Given the description of an element on the screen output the (x, y) to click on. 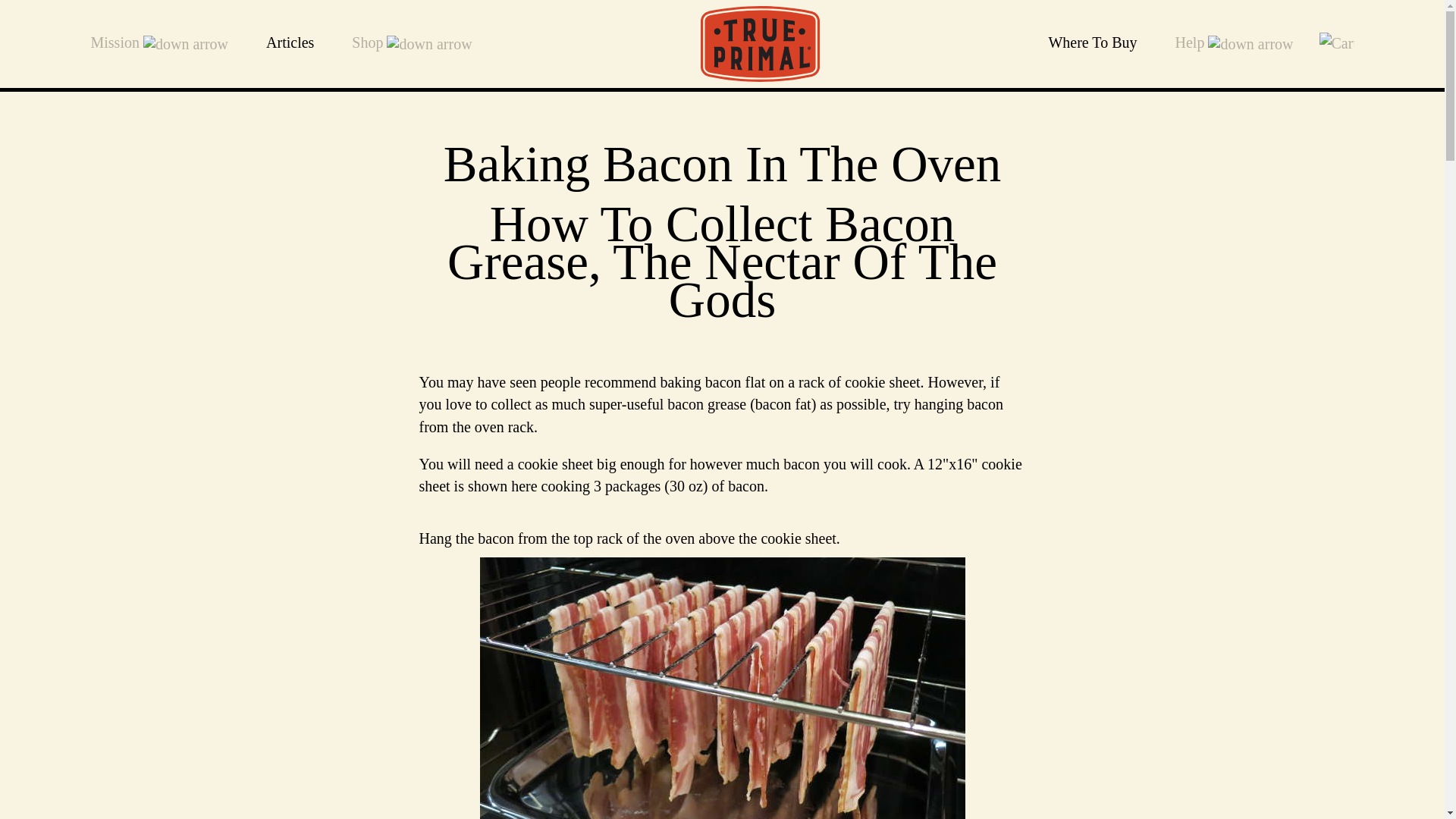
Where To Buy (1092, 42)
Help (1234, 43)
Shop (411, 43)
Mission (159, 43)
Articles (290, 42)
